Given the description of an element on the screen output the (x, y) to click on. 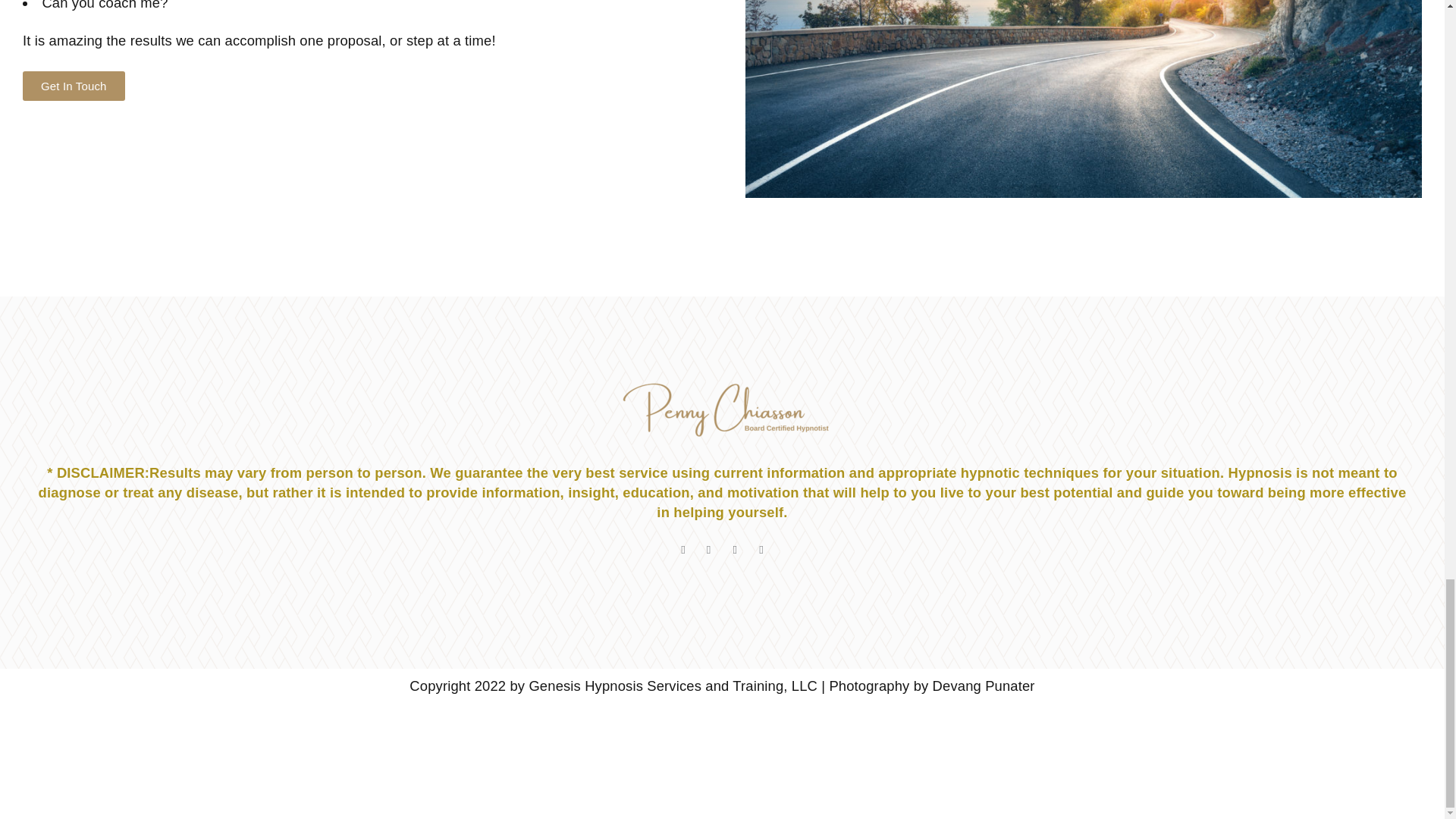
Get In Touch (74, 85)
